Given the description of an element on the screen output the (x, y) to click on. 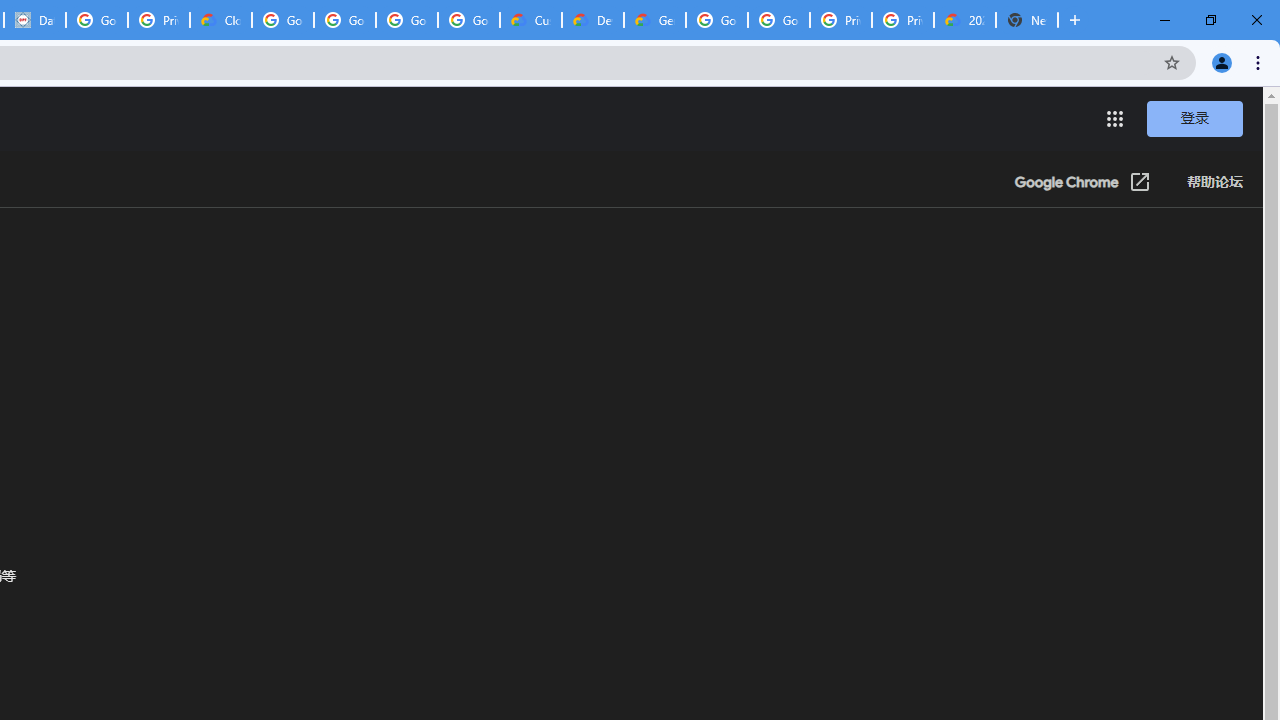
Cloud Data Processing Addendum | Google Cloud (220, 20)
Google Cloud Platform (778, 20)
New Tab (1026, 20)
Customer Care | Google Cloud (530, 20)
